Given the description of an element on the screen output the (x, y) to click on. 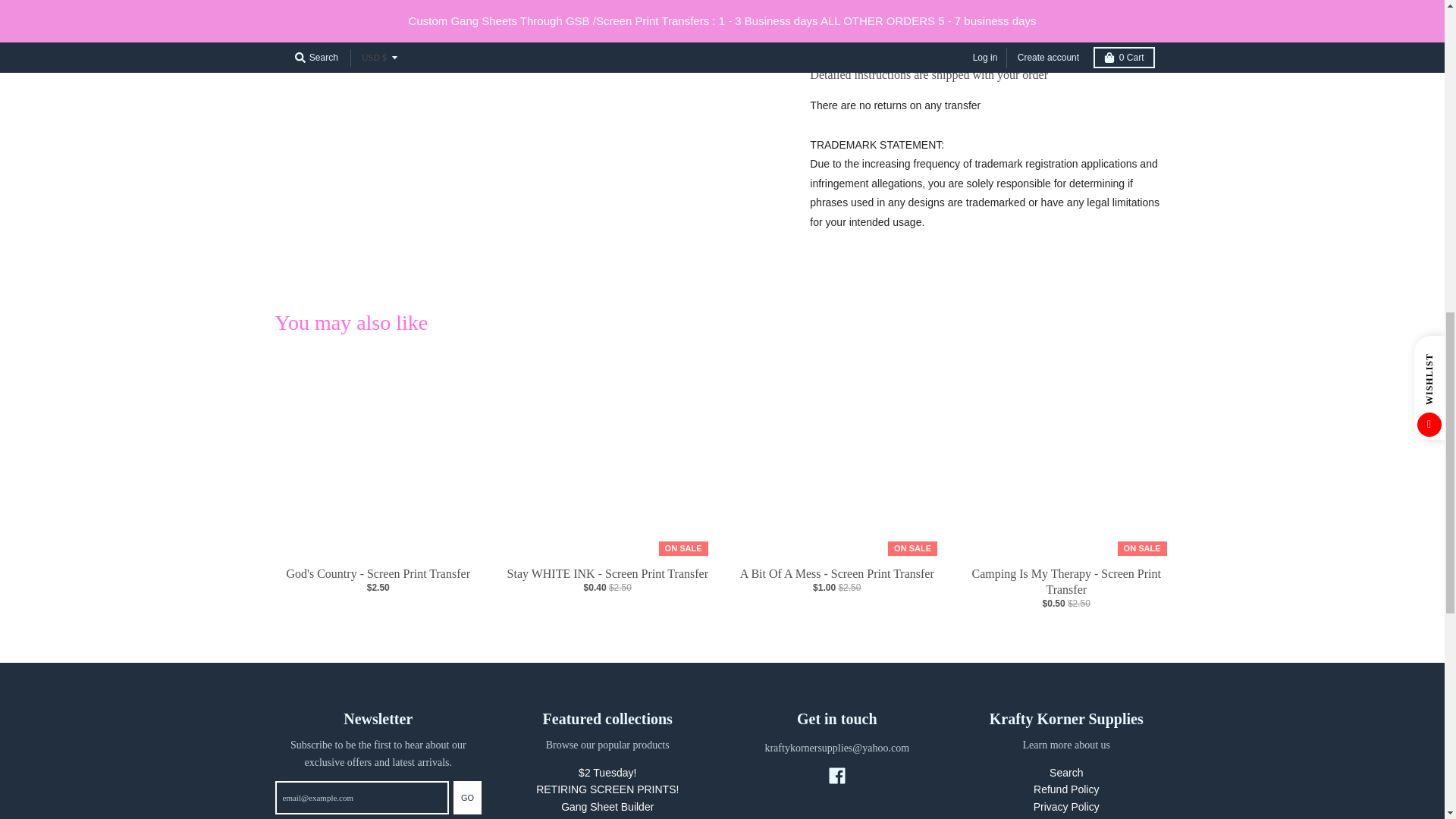
Facebook - Krafty Korner Supplies (836, 775)
